Given the description of an element on the screen output the (x, y) to click on. 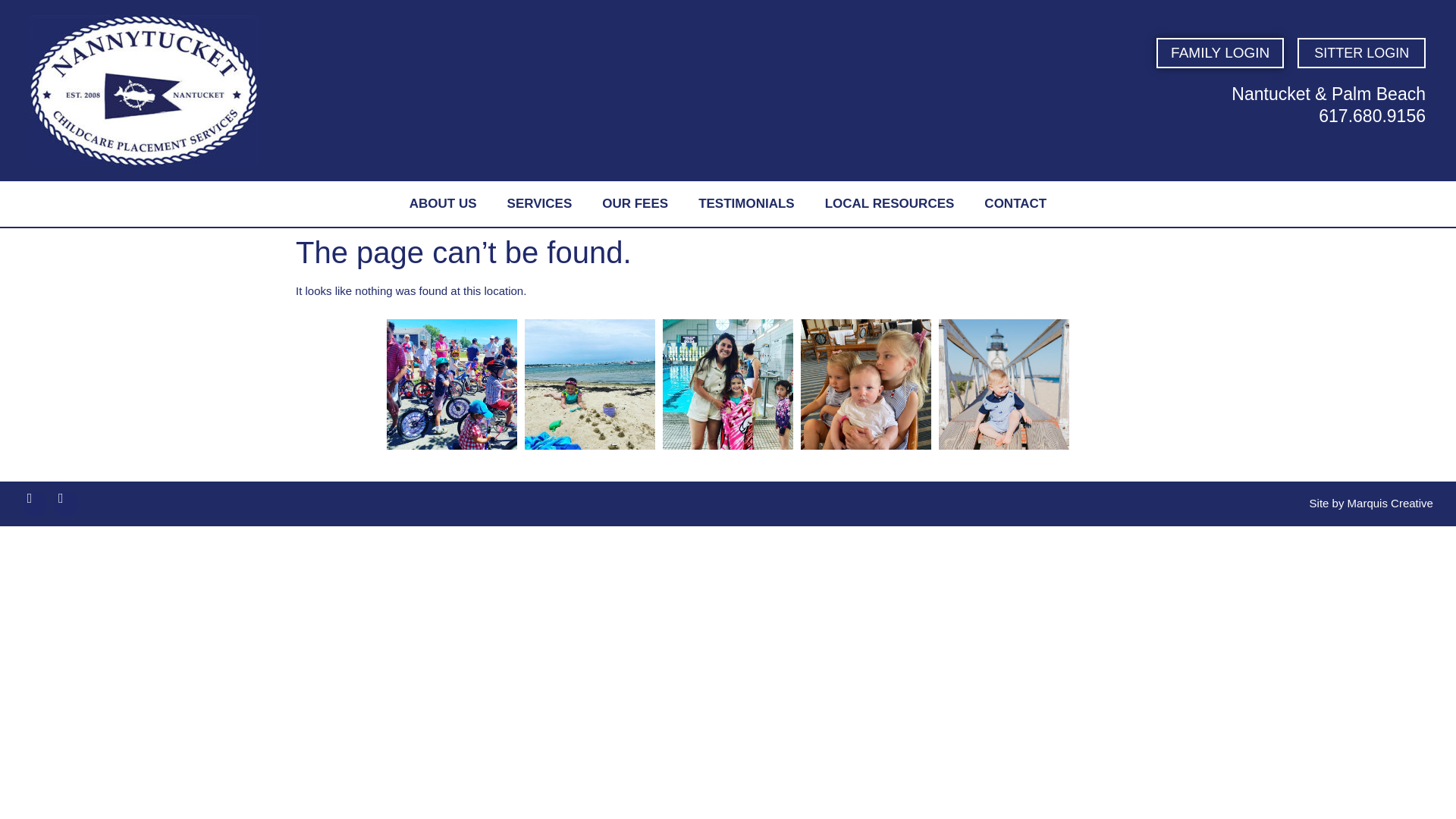
FAMILY LOGIN (1220, 52)
ABOUT US (443, 203)
OUR FEES (634, 203)
LOCAL RESOURCES (889, 203)
CONTACT (1015, 203)
617.680.9156 (1372, 116)
Marquis Creative (1390, 502)
SERVICES (540, 203)
SITTER LOGIN (1361, 52)
TESTIMONIALS (745, 203)
